Given the description of an element on the screen output the (x, y) to click on. 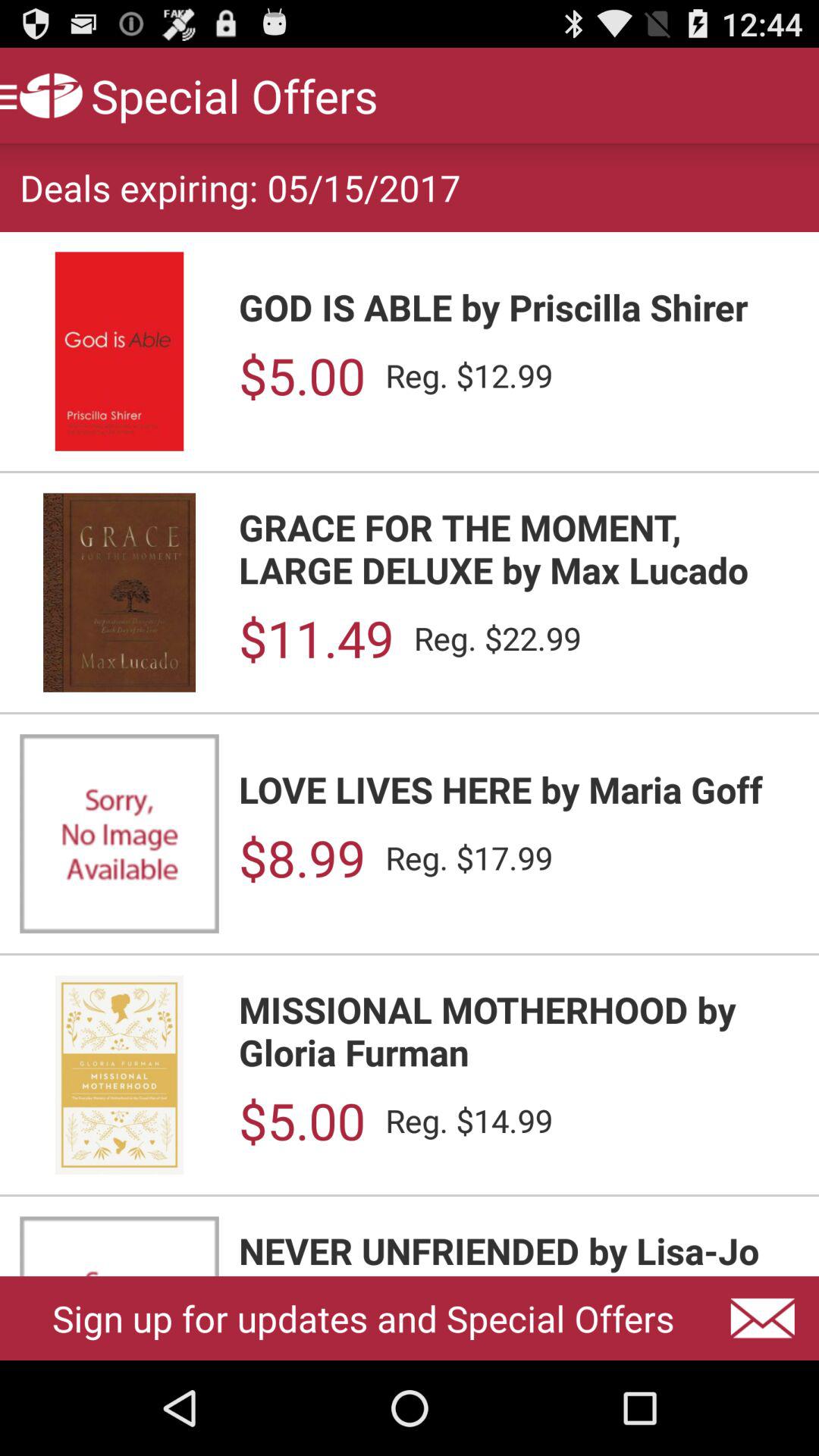
choose the item above the $5.00 (518, 1030)
